Given the description of an element on the screen output the (x, y) to click on. 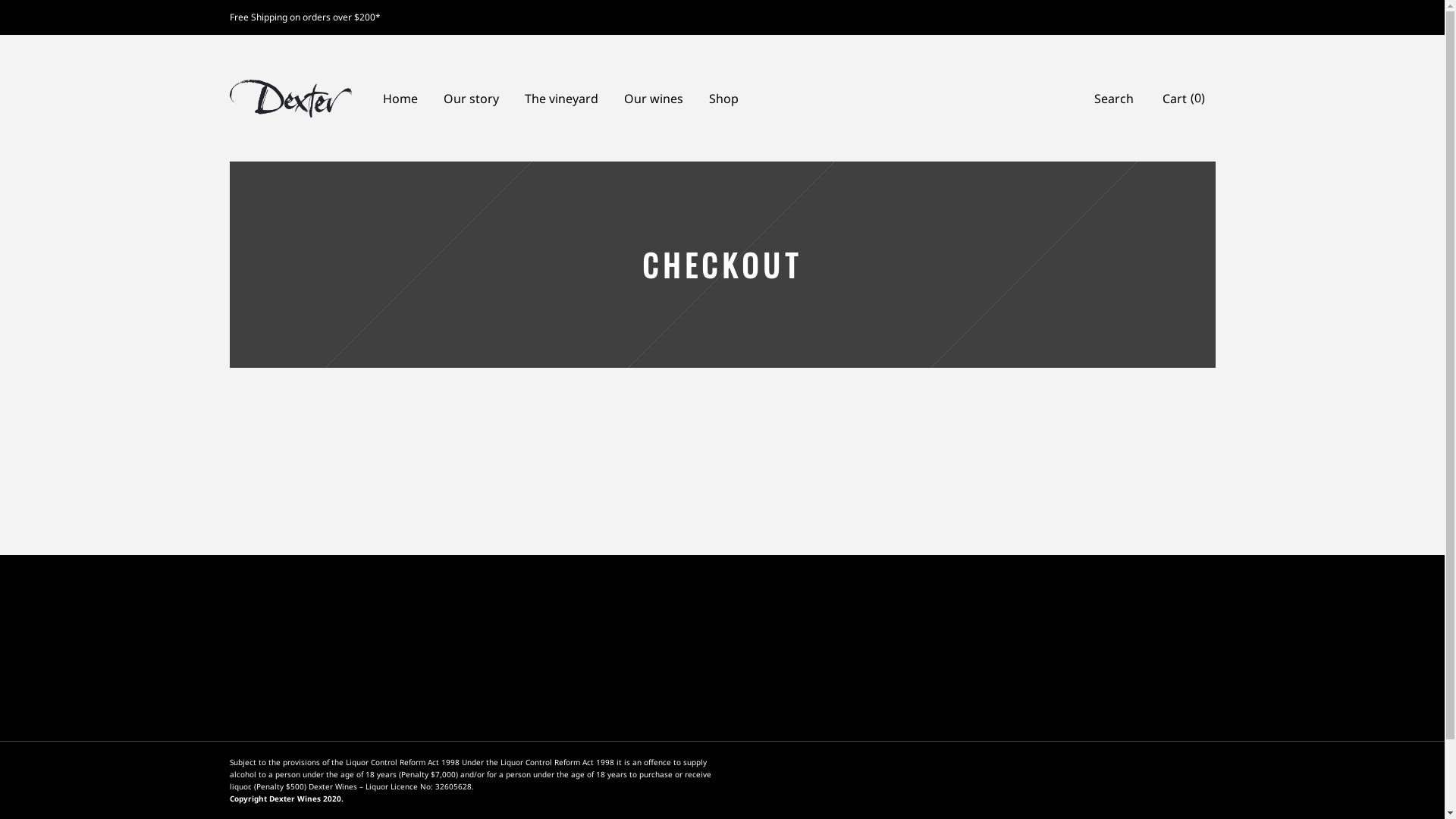
The vineyard Element type: text (561, 97)
Shop Element type: text (723, 97)
Our story Element type: text (470, 97)
Cart
(0) Element type: text (1182, 97)
Our wines Element type: text (653, 97)
Home Element type: text (400, 97)
Search Element type: text (1112, 98)
